Given the description of an element on the screen output the (x, y) to click on. 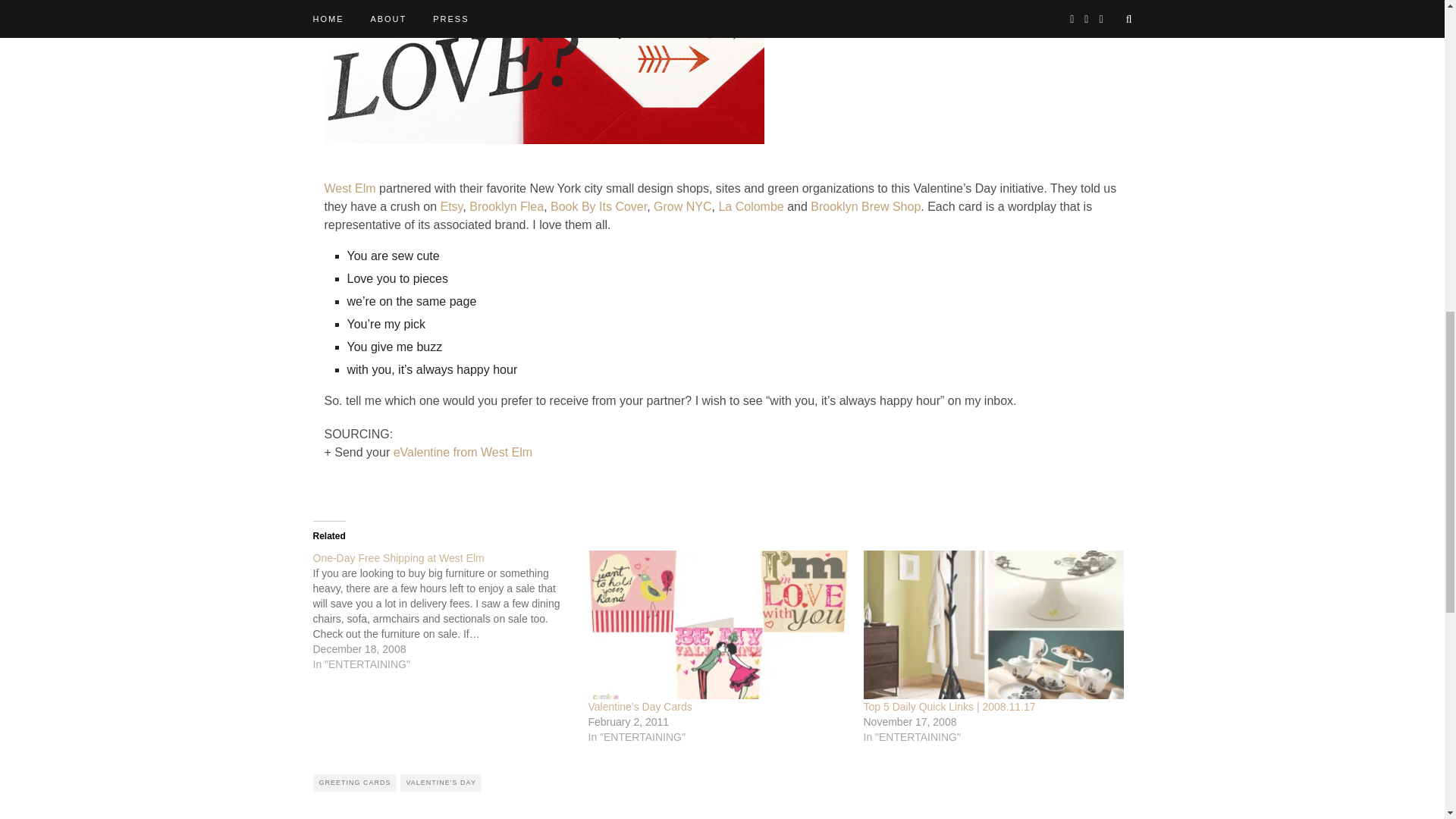
One-Day Free Shipping at West Elm (398, 558)
Etsy (451, 205)
Brooklyn Flea (505, 205)
VALENTINE'S DAY (440, 782)
One-Day Free Shipping at West Elm (398, 558)
Brooklyn Brew Shop (865, 205)
GREETING CARDS (354, 782)
west elm valentine's day ecards (544, 72)
Grow NYC (682, 205)
eValentine from West Elm (462, 451)
Book By Its Cover (598, 205)
One-Day Free Shipping at West Elm (450, 610)
West Elm (349, 187)
La Colombe (750, 205)
